Given the description of an element on the screen output the (x, y) to click on. 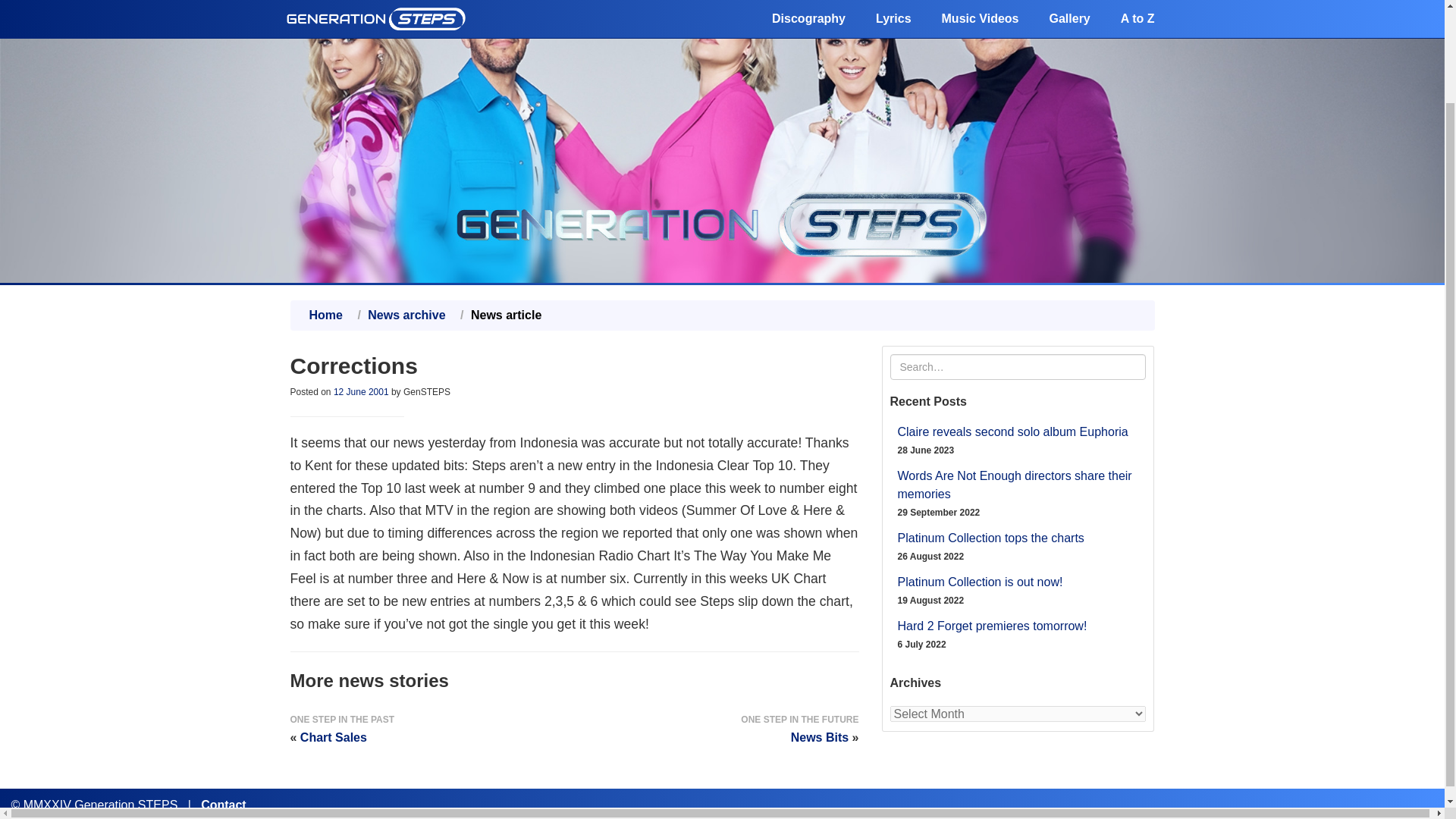
12 June 2001 (360, 391)
Home (325, 314)
Chart Sales (332, 737)
Platinum Collection tops the charts (991, 537)
Contact (223, 804)
News archive (406, 314)
News Bits (819, 737)
Words Are Not Enough directors share their memories (1015, 484)
Hard 2 Forget premieres tomorrow! (992, 625)
Platinum Collection is out now! (980, 581)
Claire reveals second solo album Euphoria (1013, 431)
